Given the description of an element on the screen output the (x, y) to click on. 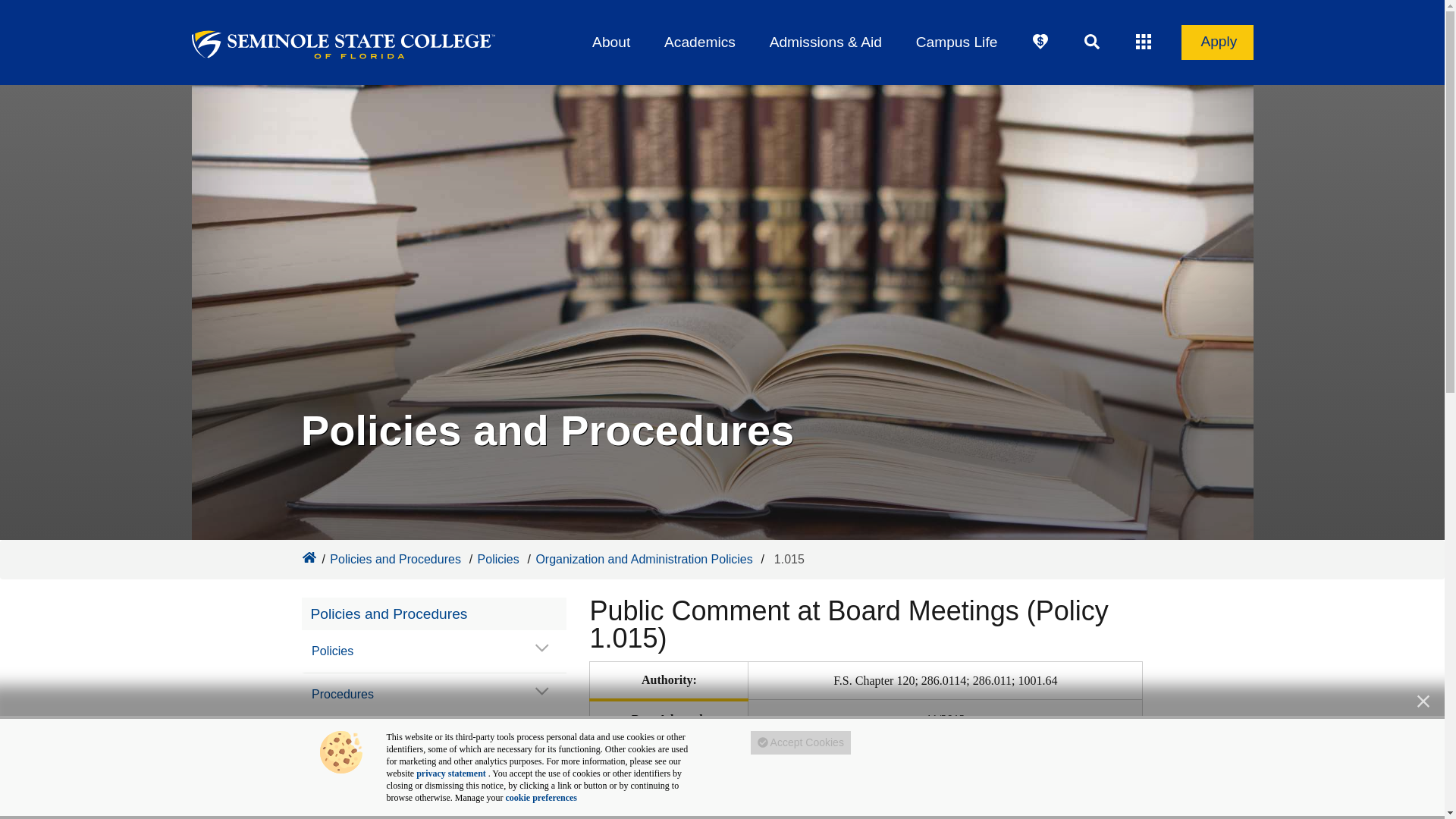
Seminole State College Homepage (308, 557)
My Apps (1143, 41)
Campus Life (956, 42)
Academics (699, 42)
My Apps (1143, 41)
Search (1091, 41)
About (611, 42)
Give (1039, 41)
Give (1039, 41)
My Apps (1143, 41)
